Given the description of an element on the screen output the (x, y) to click on. 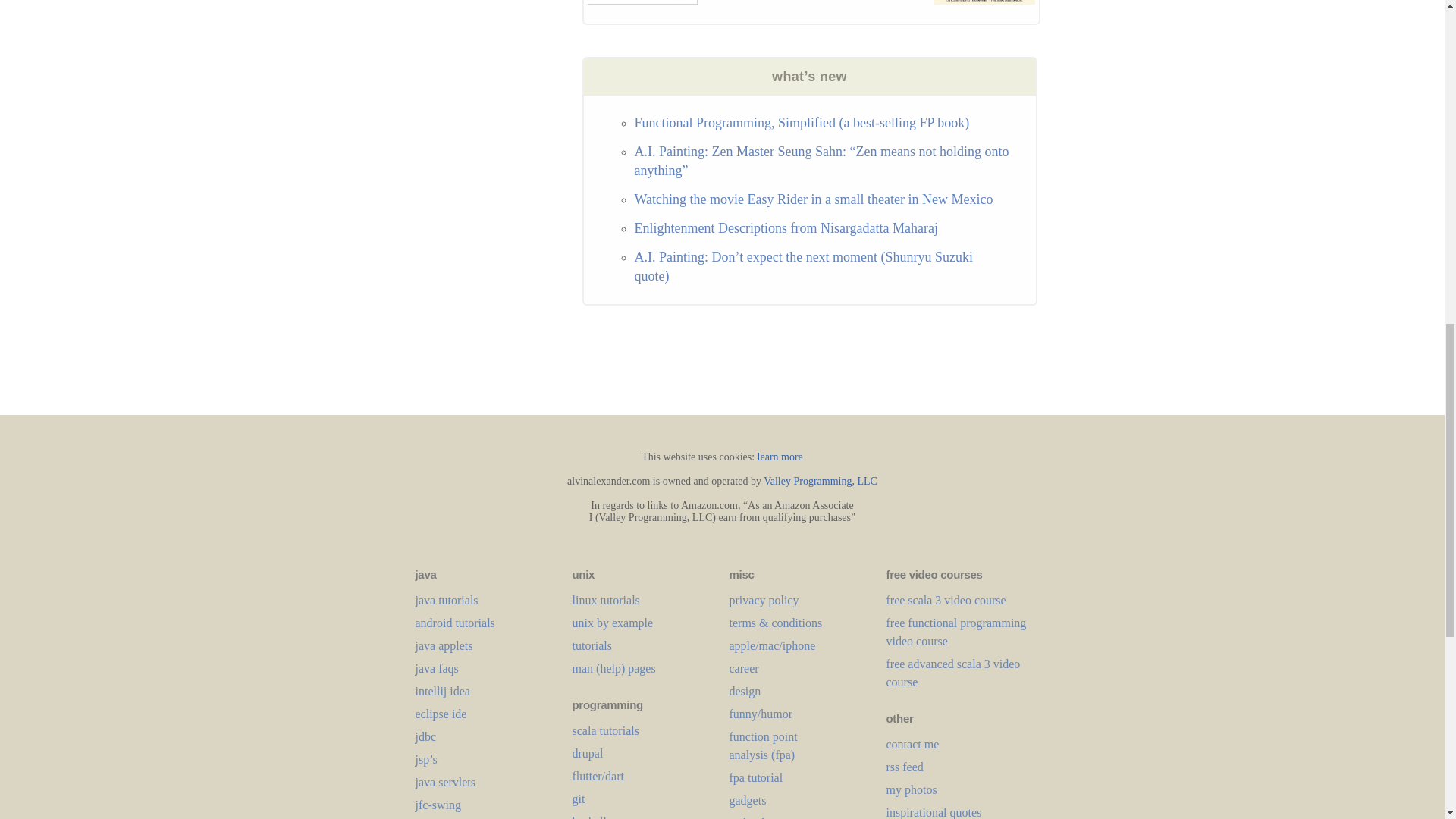
mobile site (912, 744)
Free Scala 3 online video training course (945, 599)
java tutorials (446, 599)
Learn Functional Programming The Fast Way! (984, 2)
Valley Programming, LLC (819, 480)
rss feed (904, 766)
Enlightenment Descriptions from Nisargadatta Maharaj (785, 227)
Scala Cookbook (641, 2)
Free functional programming video training course (955, 631)
